Given the description of an element on the screen output the (x, y) to click on. 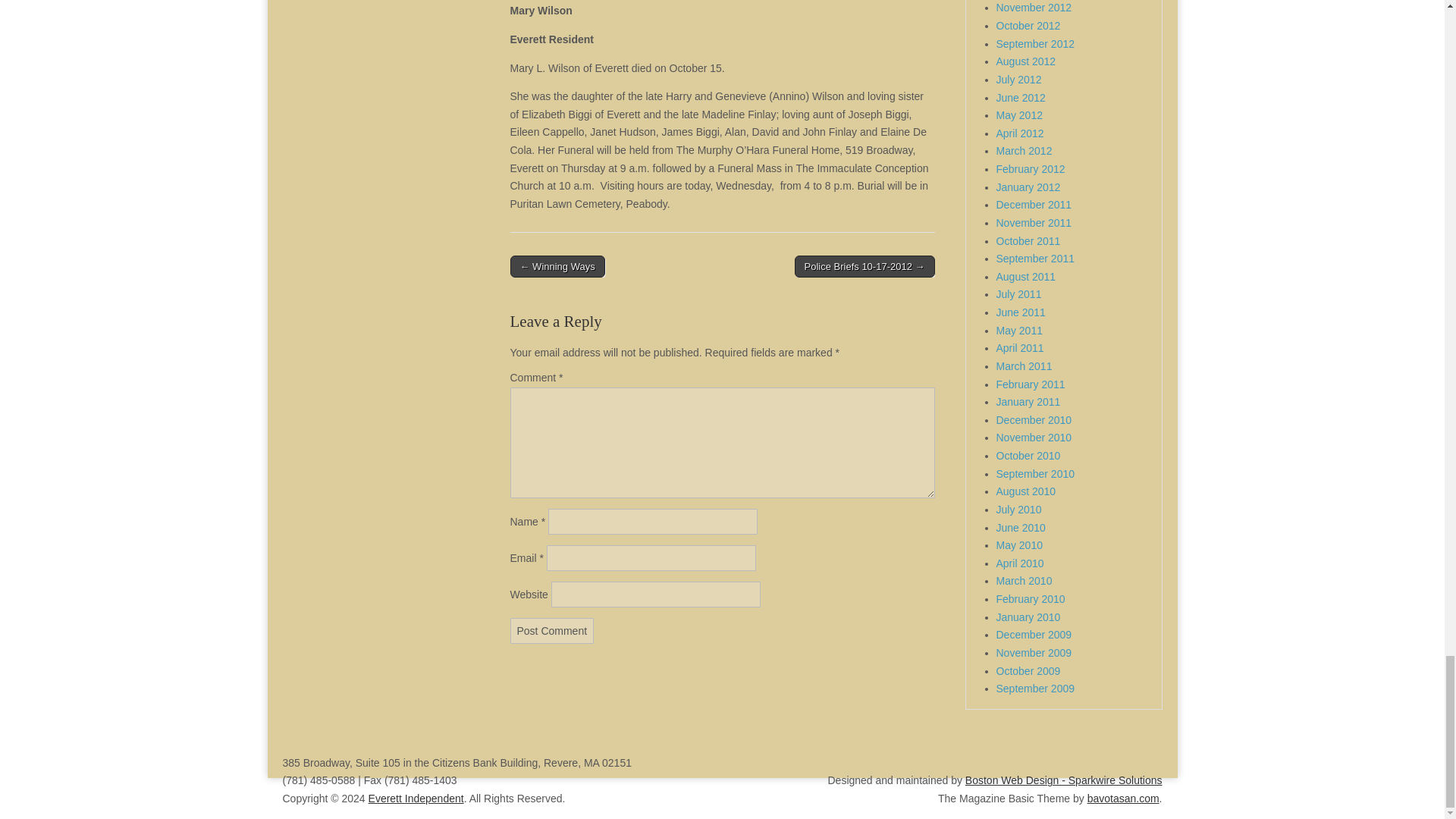
Post Comment (551, 630)
Post Comment (551, 630)
